Given the description of an element on the screen output the (x, y) to click on. 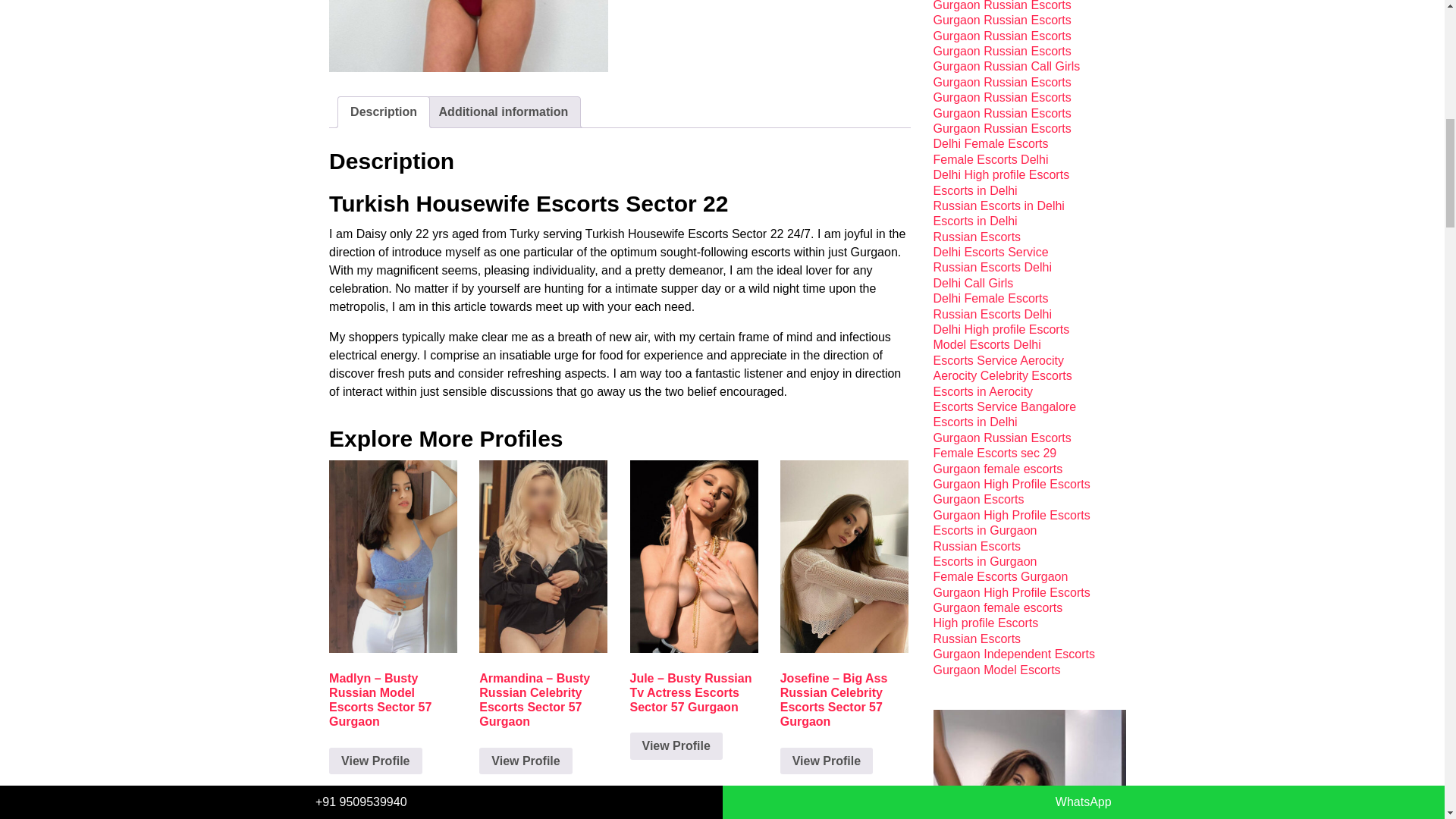
daisy (468, 36)
Description (383, 112)
Additional information (504, 112)
